Given the description of an element on the screen output the (x, y) to click on. 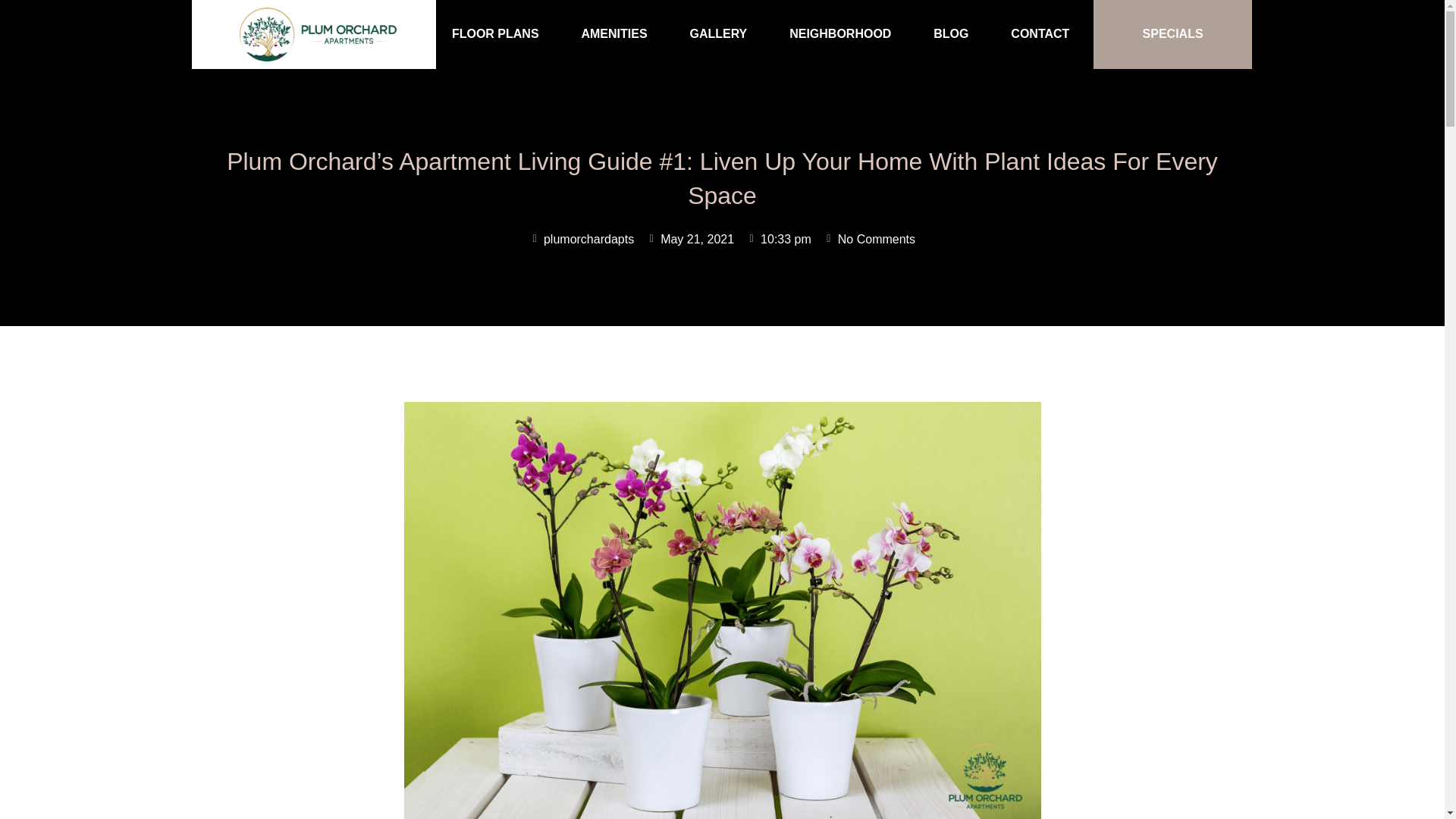
NEIGHBORHOOD (840, 34)
BLOG (951, 34)
SPECIALS (1172, 34)
AMENITIES (613, 34)
FLOOR PLANS (494, 34)
CONTACT (1040, 34)
GALLERY (717, 34)
